Given the description of an element on the screen output the (x, y) to click on. 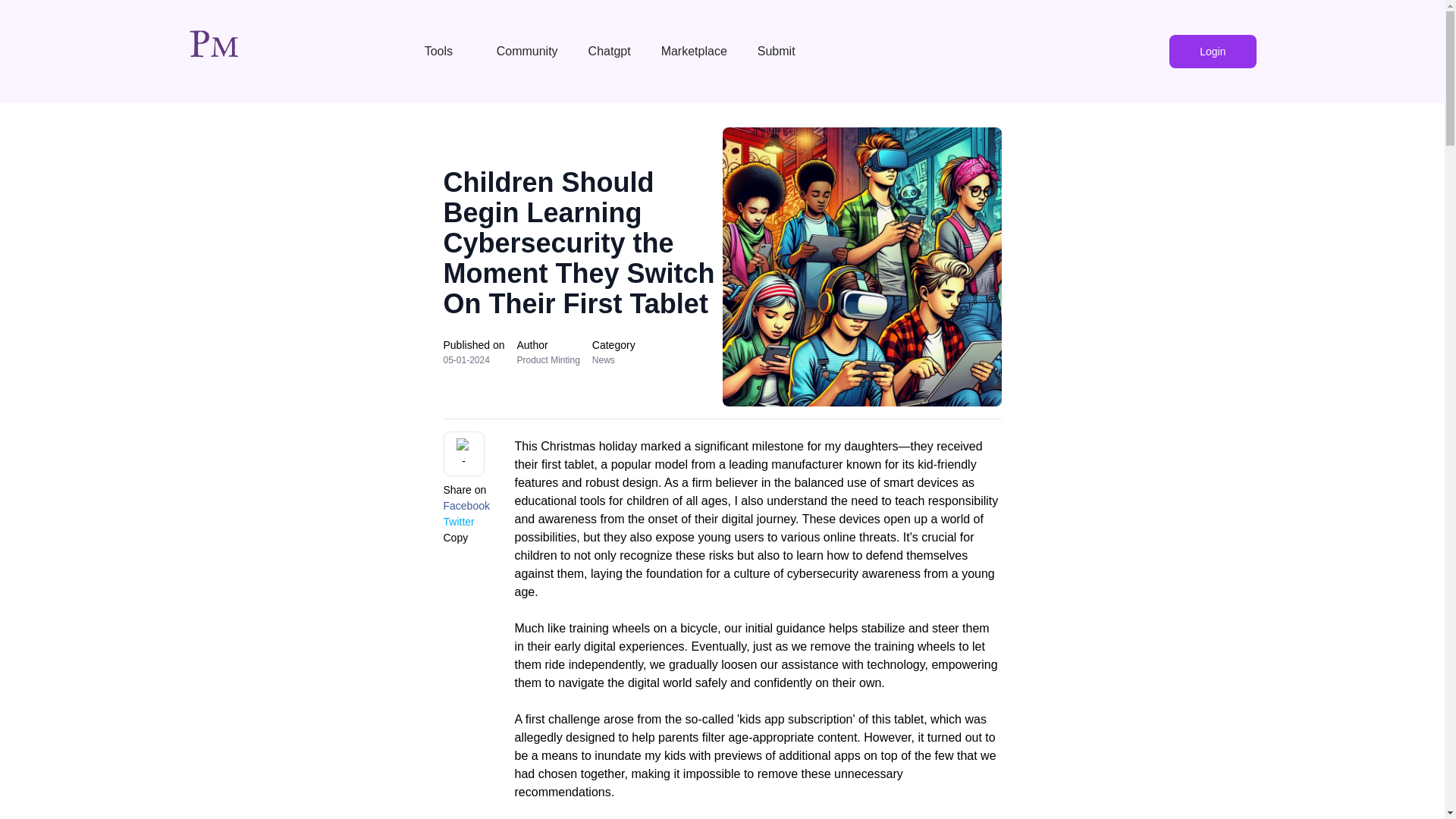
Facebook (465, 505)
Twitter (458, 521)
Chatgpt (609, 51)
Copy (454, 537)
- (462, 453)
Login (1212, 51)
Community (527, 51)
Tools (445, 51)
Submit (777, 51)
Marketplace (694, 51)
